Given the description of an element on the screen output the (x, y) to click on. 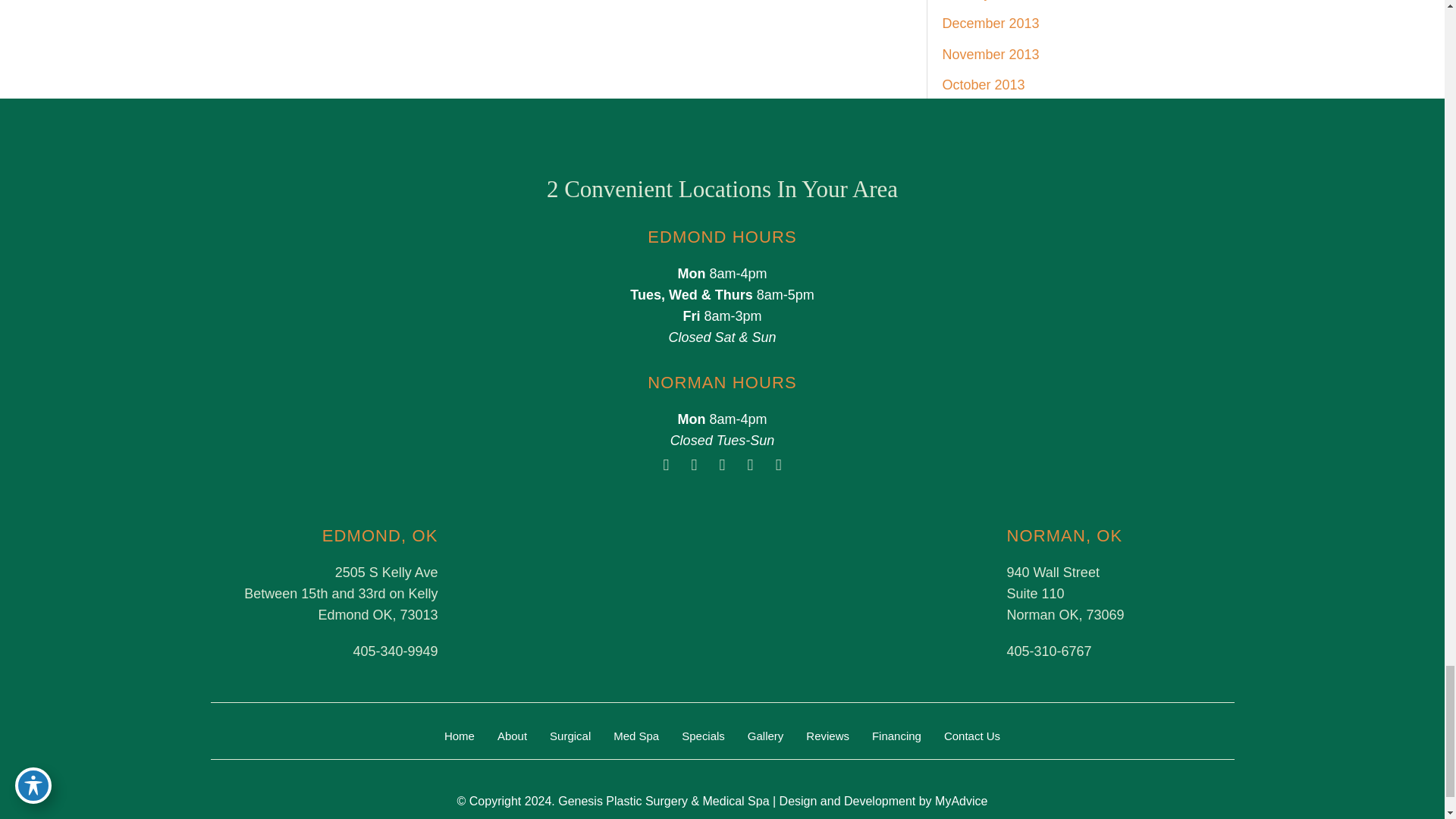
normanoffice (852, 592)
edmondoffice (590, 592)
